Given the description of an element on the screen output the (x, y) to click on. 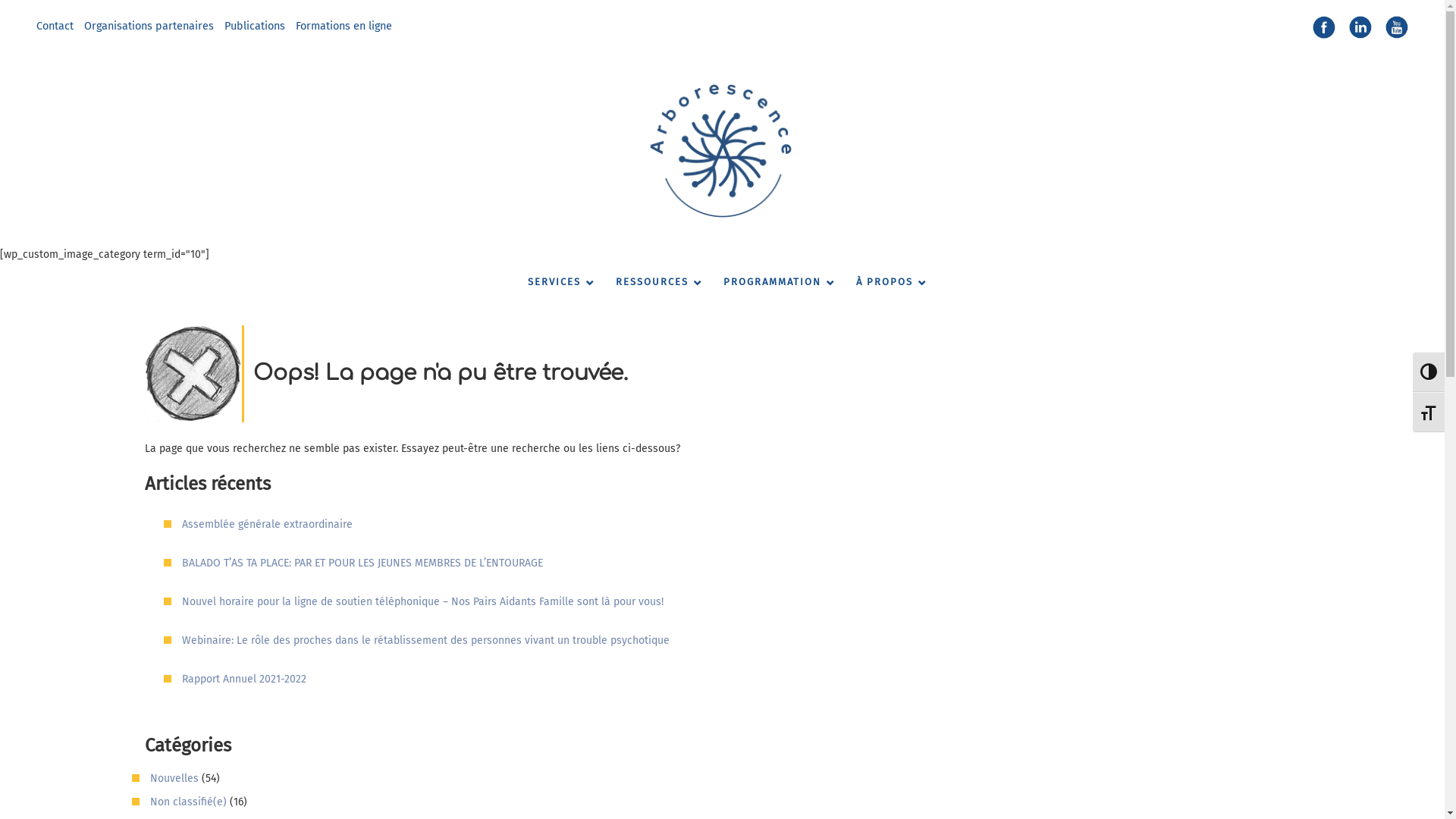
Chercher Element type: text (28, 9)
PROGRAMMATION Element type: text (774, 281)
Nouvelles Element type: text (174, 777)
Organisations partenaires Element type: text (148, 26)
Rapport Annuel 2021-2022 Element type: text (244, 678)
SERVICES Element type: text (556, 281)
Contact Element type: text (54, 26)
RESSOURCES Element type: text (654, 281)
Publications Element type: text (254, 26)
Formations en ligne Element type: text (343, 26)
Changer la taille de la police Element type: text (1428, 412)
